Given the description of an element on the screen output the (x, y) to click on. 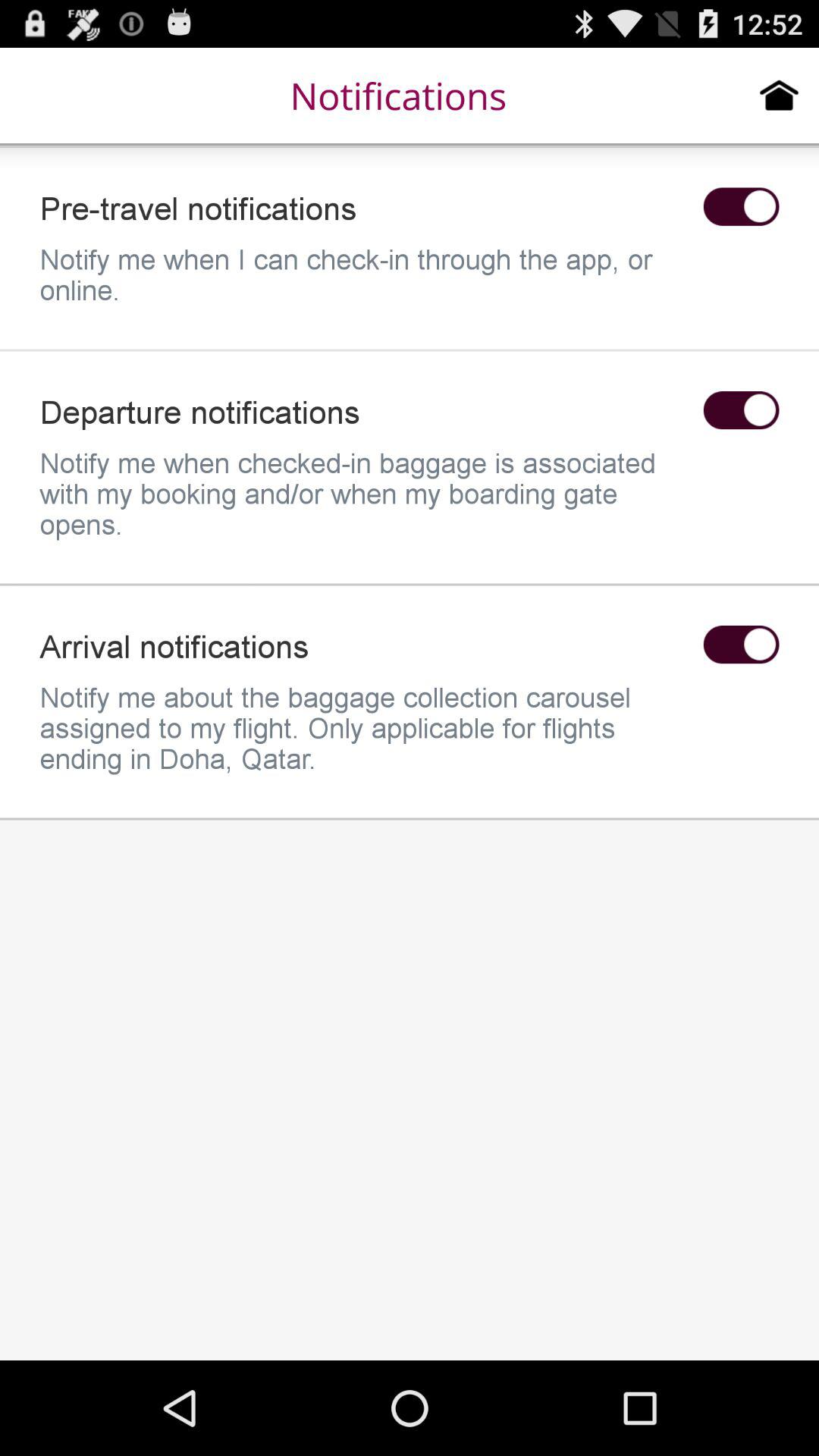
enable/disable (741, 410)
